Given the description of an element on the screen output the (x, y) to click on. 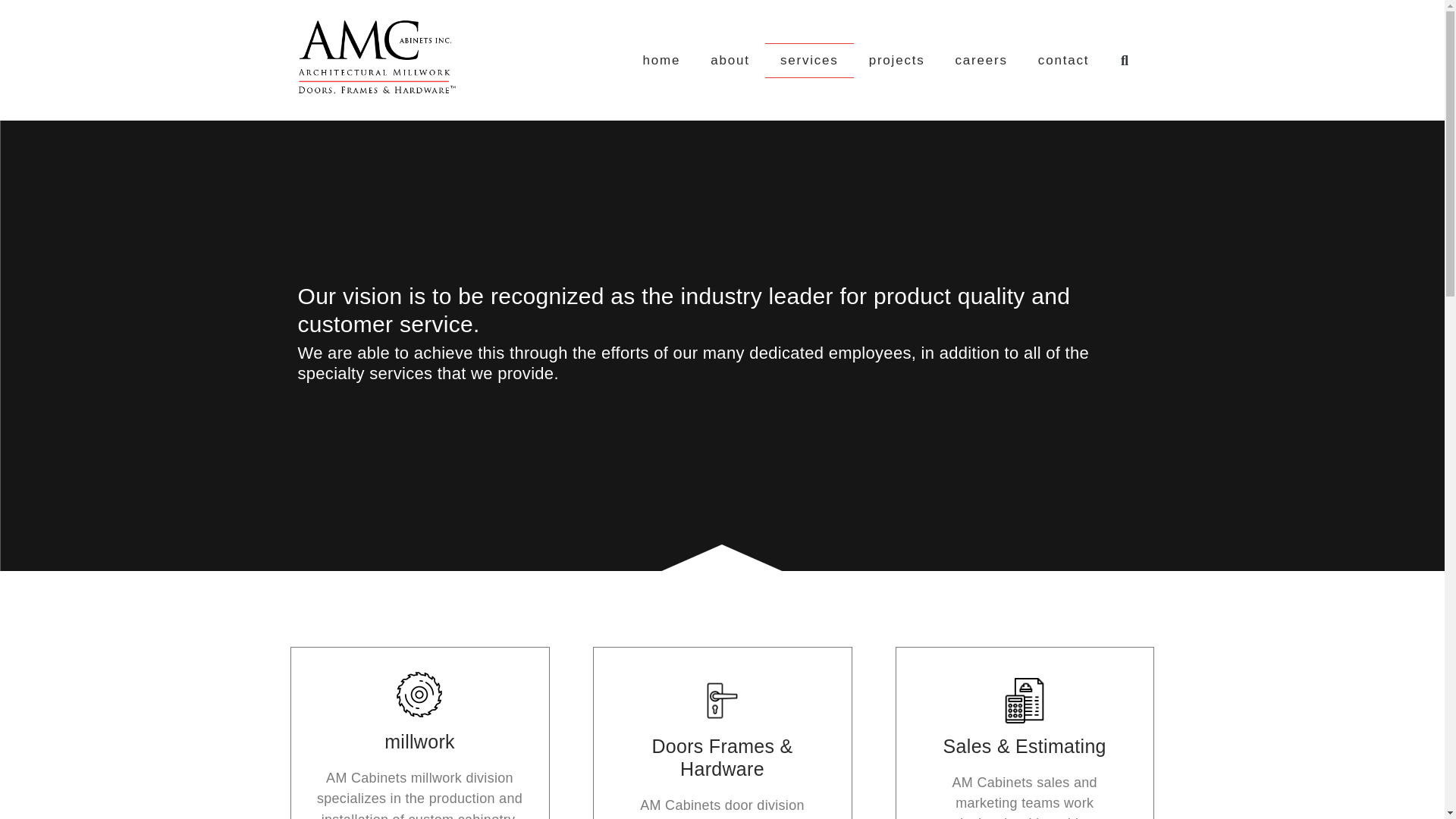
home (661, 60)
careers (981, 60)
services (809, 60)
projects (896, 60)
about (730, 60)
contact (1063, 60)
